Given the description of an element on the screen output the (x, y) to click on. 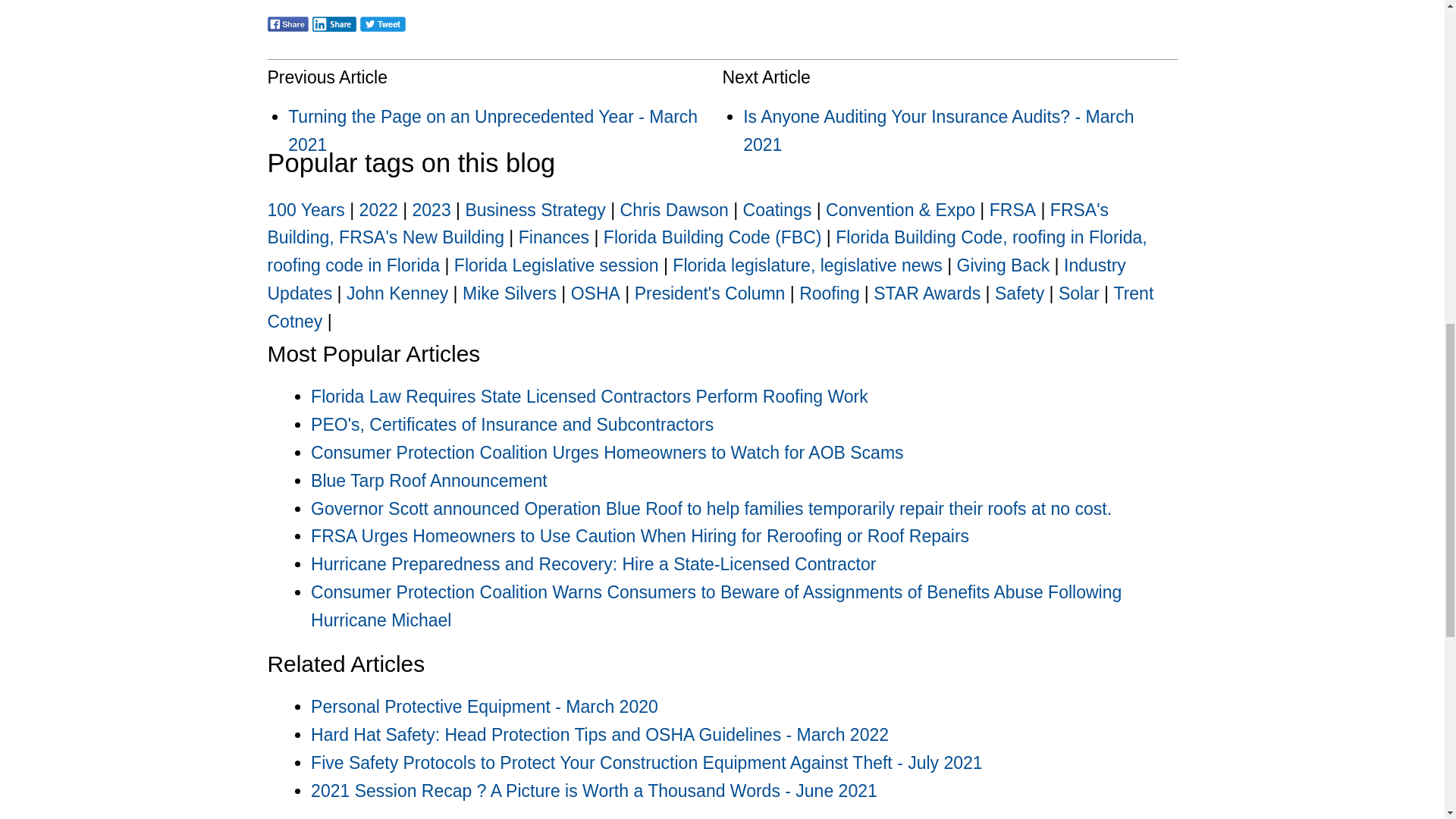
Share on Facebook (286, 34)
Facebook Like (443, 28)
